Given the description of an element on the screen output the (x, y) to click on. 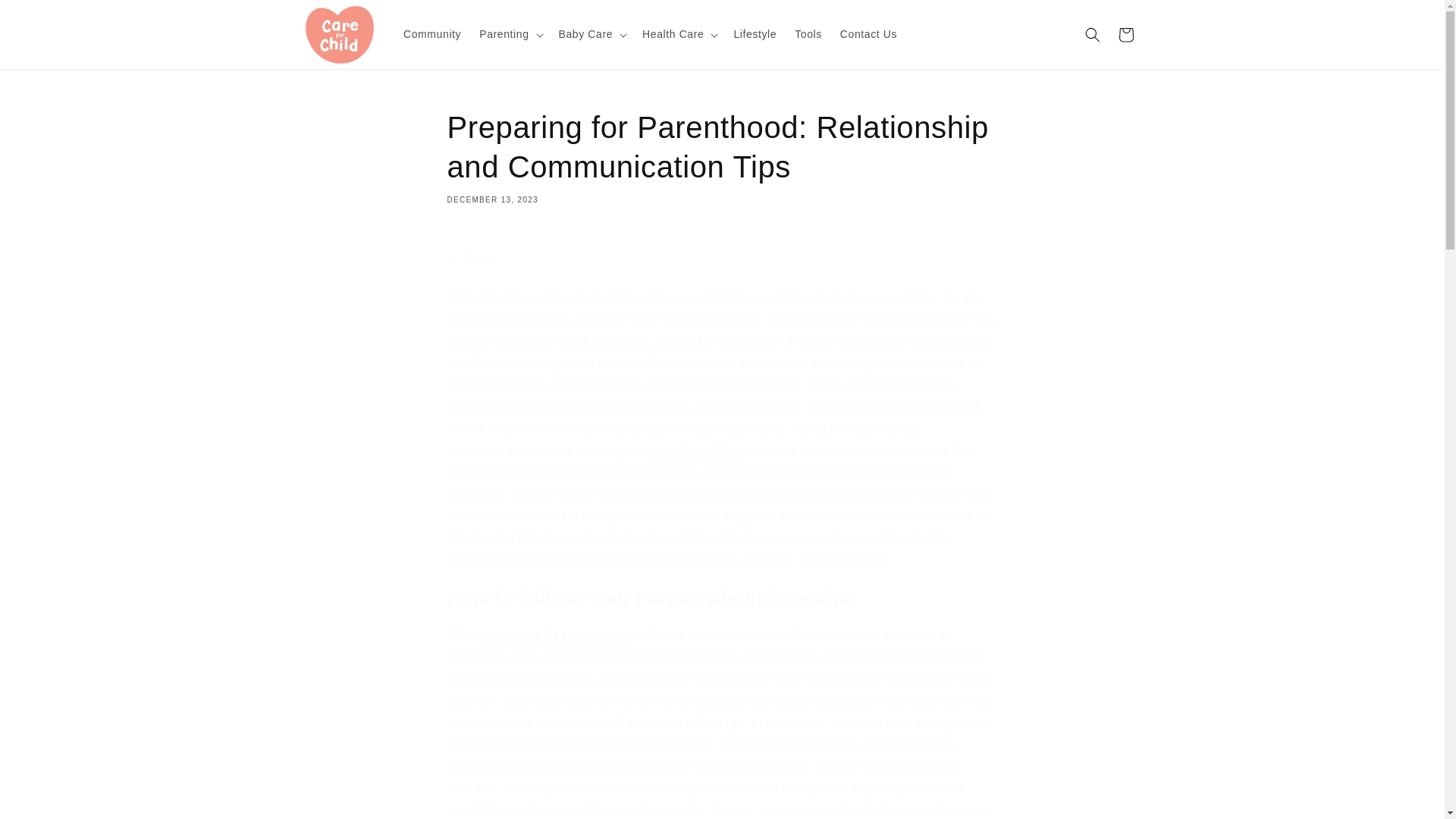
Contact Us (868, 33)
Community (432, 33)
Skip to content (45, 17)
Lifestyle (754, 33)
Share (721, 259)
Tools (808, 33)
